Given the description of an element on the screen output the (x, y) to click on. 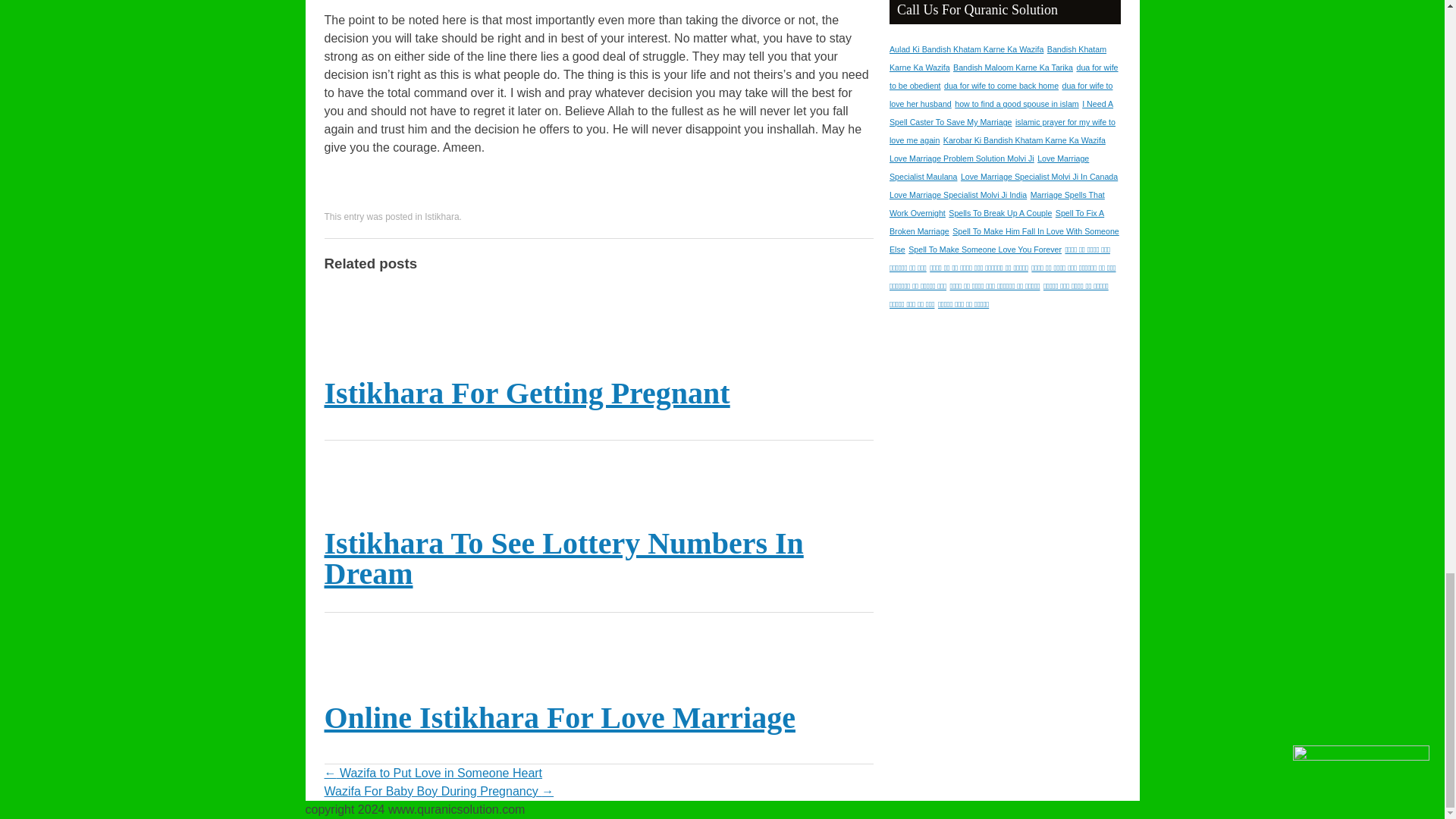
Istikhara (441, 216)
Permalink to Istikhara To See Lottery Numbers In Dream (563, 558)
Permalink to Online Istikhara For Love Marriage (559, 717)
Istikhara For Getting Pregnant 1 (343, 331)
Istikhara For Getting Pregnant (527, 392)
Permalink to Istikhara For Getting Pregnant (527, 392)
Online Istikhara For Love Marriage 3 (343, 654)
Online Istikhara For Love Marriage (559, 717)
Istikhara To See Lottery Numbers In Dream (563, 558)
Istikhara To See Lottery Numbers In Dream 2 (343, 481)
